Given the description of an element on the screen output the (x, y) to click on. 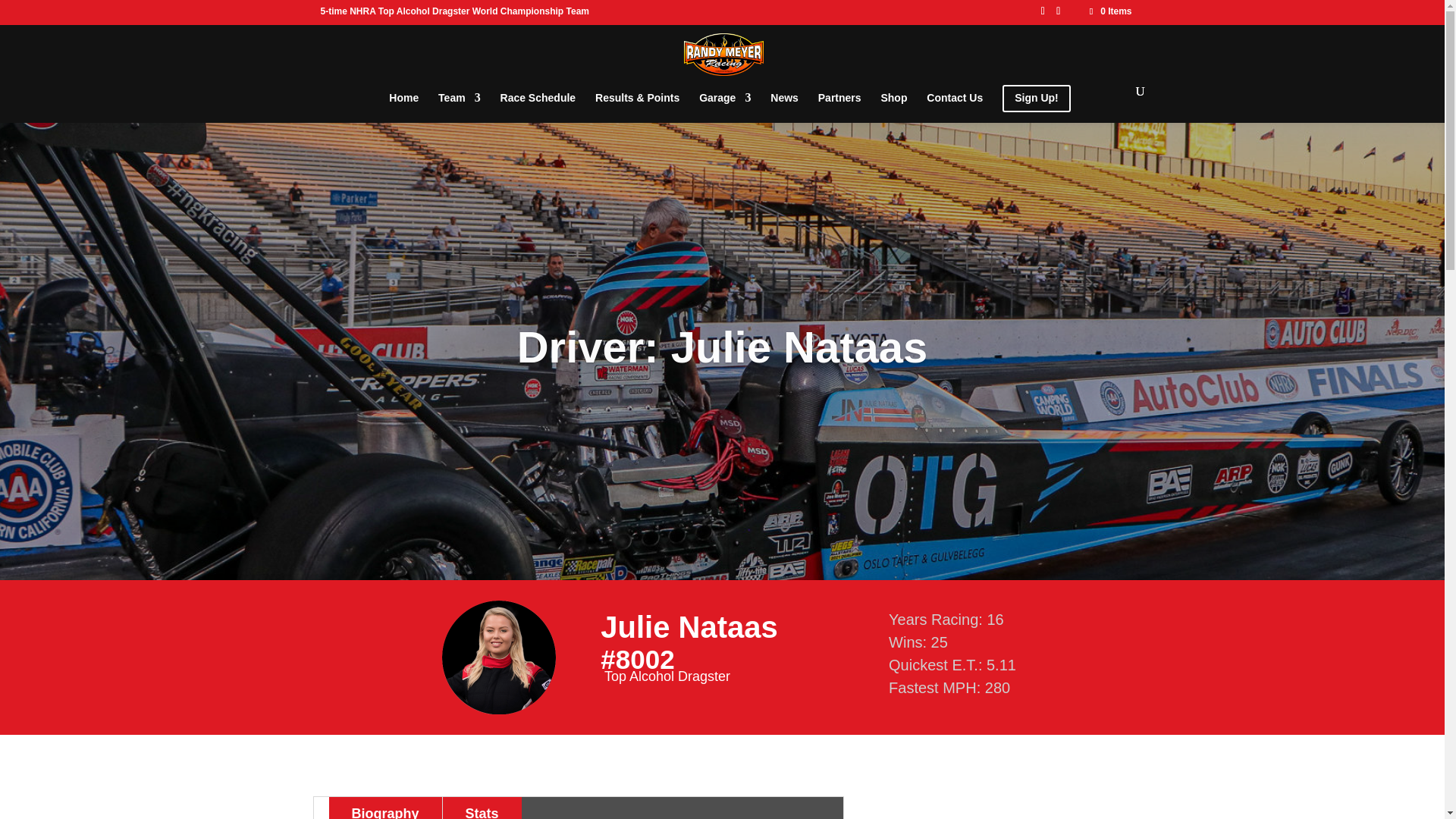
News (783, 102)
Home (403, 102)
Partners (839, 102)
Sign Up! (1036, 103)
Race Schedule (538, 102)
0 Items (1108, 10)
Stats (481, 807)
Garage (724, 102)
Team (459, 102)
Biography (385, 807)
Contact Us (954, 102)
Shop (893, 102)
